Given the description of an element on the screen output the (x, y) to click on. 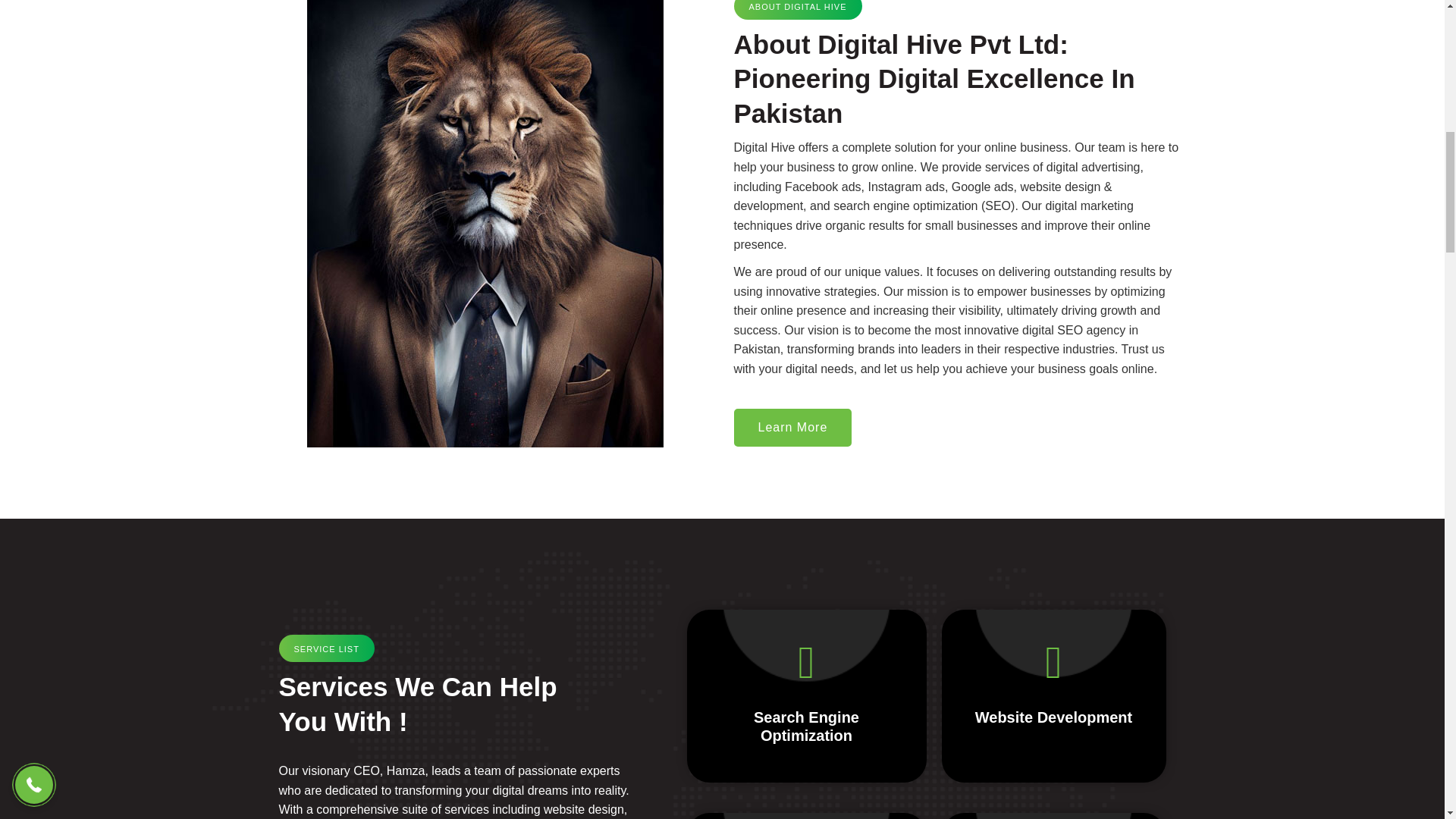
Search Engine Optimization (806, 726)
Learn More (792, 427)
